Given the description of an element on the screen output the (x, y) to click on. 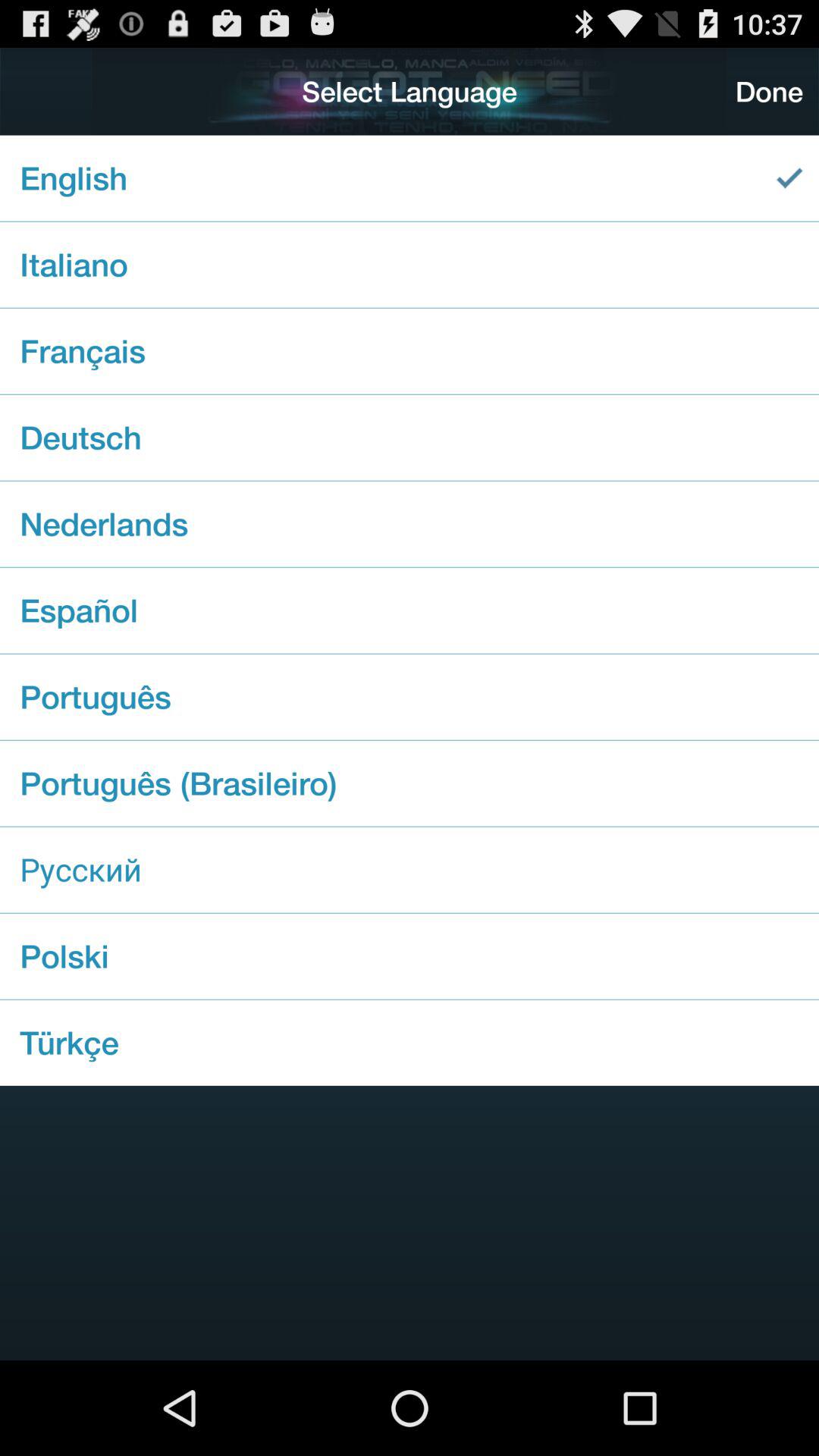
open done icon (769, 91)
